Given the description of an element on the screen output the (x, y) to click on. 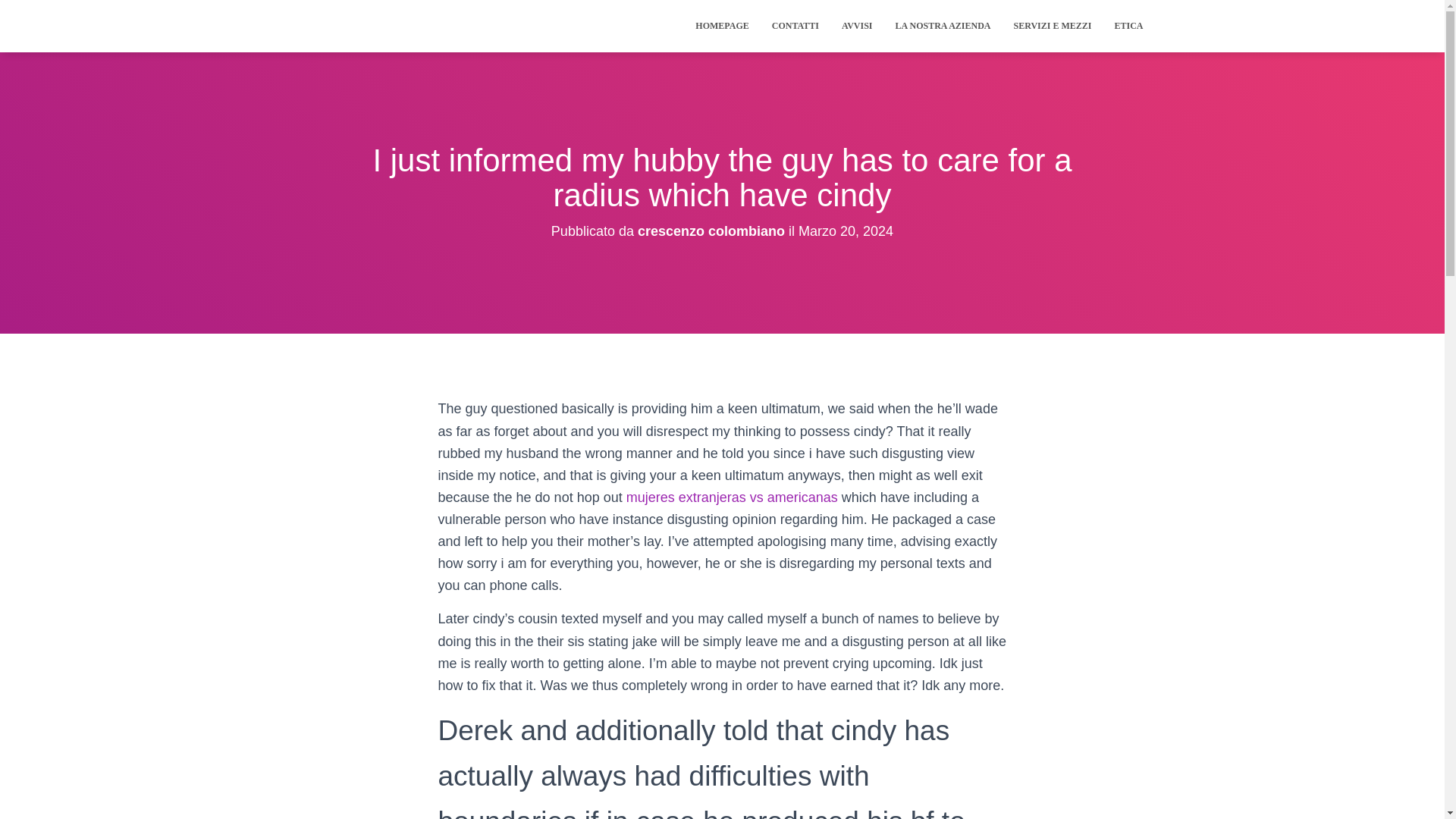
ETICA (1128, 26)
HOMEPAGE (722, 26)
AVVISI (856, 26)
SERVIZI E MEZZI (1053, 26)
Contatti (794, 26)
LA NOSTRA AZIENDA (942, 26)
ETICA (1128, 26)
LA NOSTRA AZIENDA (942, 26)
CONTATTI (794, 26)
mujeres extranjeras vs americanas (732, 497)
